Given the description of an element on the screen output the (x, y) to click on. 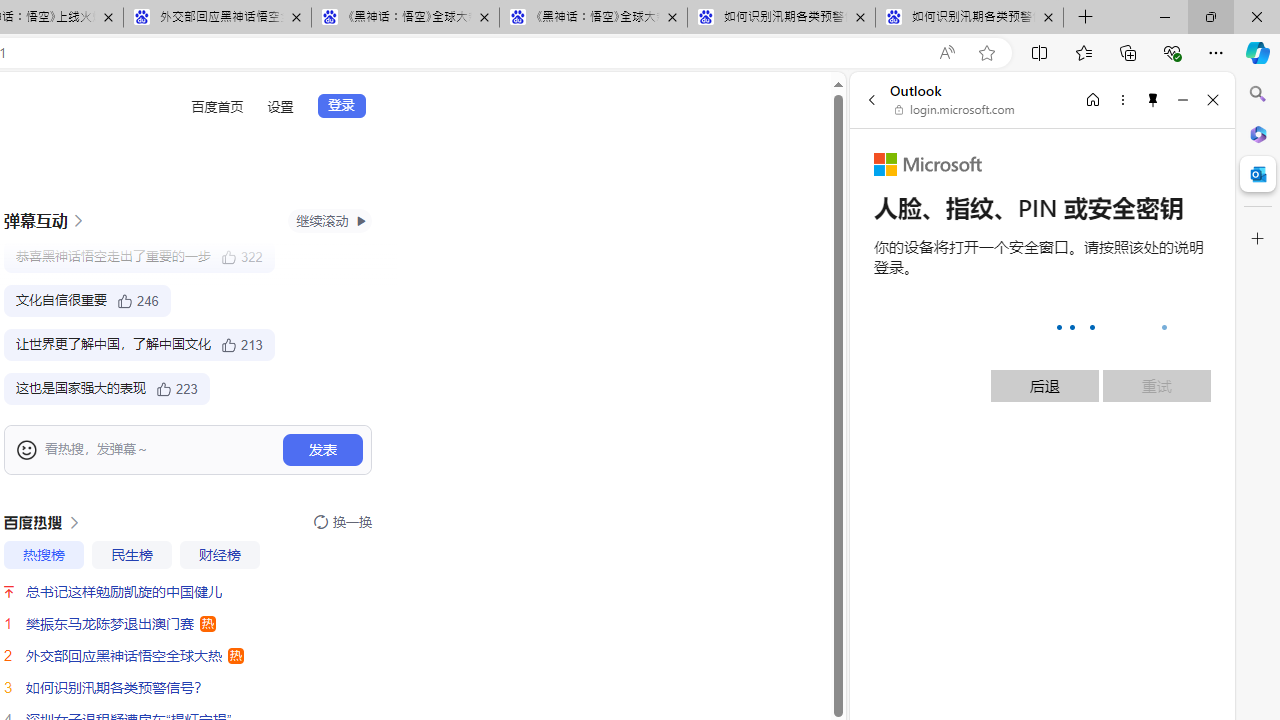
login.microsoft.com (955, 110)
